Given the description of an element on the screen output the (x, y) to click on. 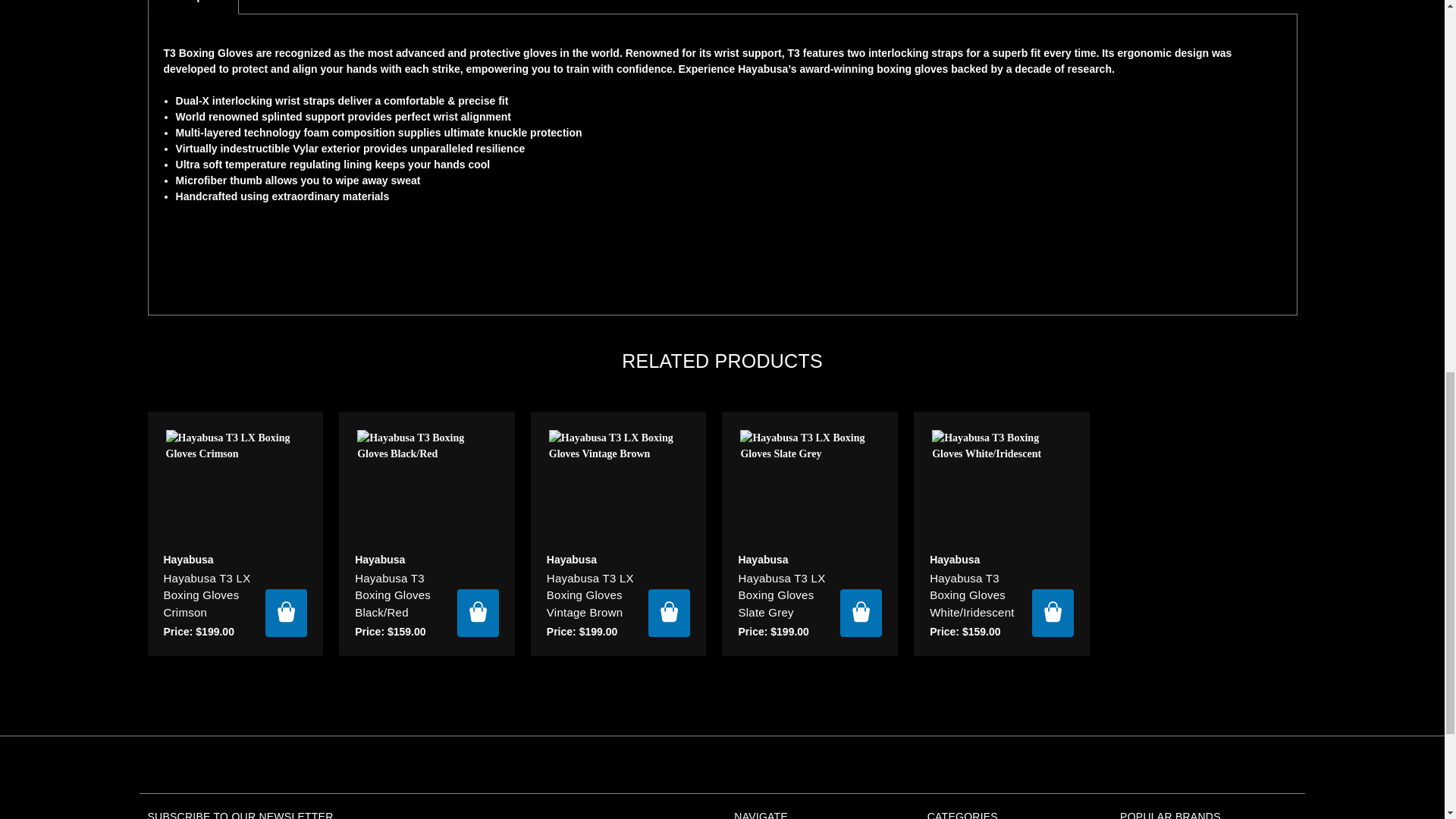
Hayabusa T3 LX Boxing Gloves Slate Grey (809, 485)
Hayabusa T3 LX Boxing Gloves Vintage Brown (618, 485)
Hayabusa T3 LX Boxing Gloves Crimson (234, 485)
